Given the description of an element on the screen output the (x, y) to click on. 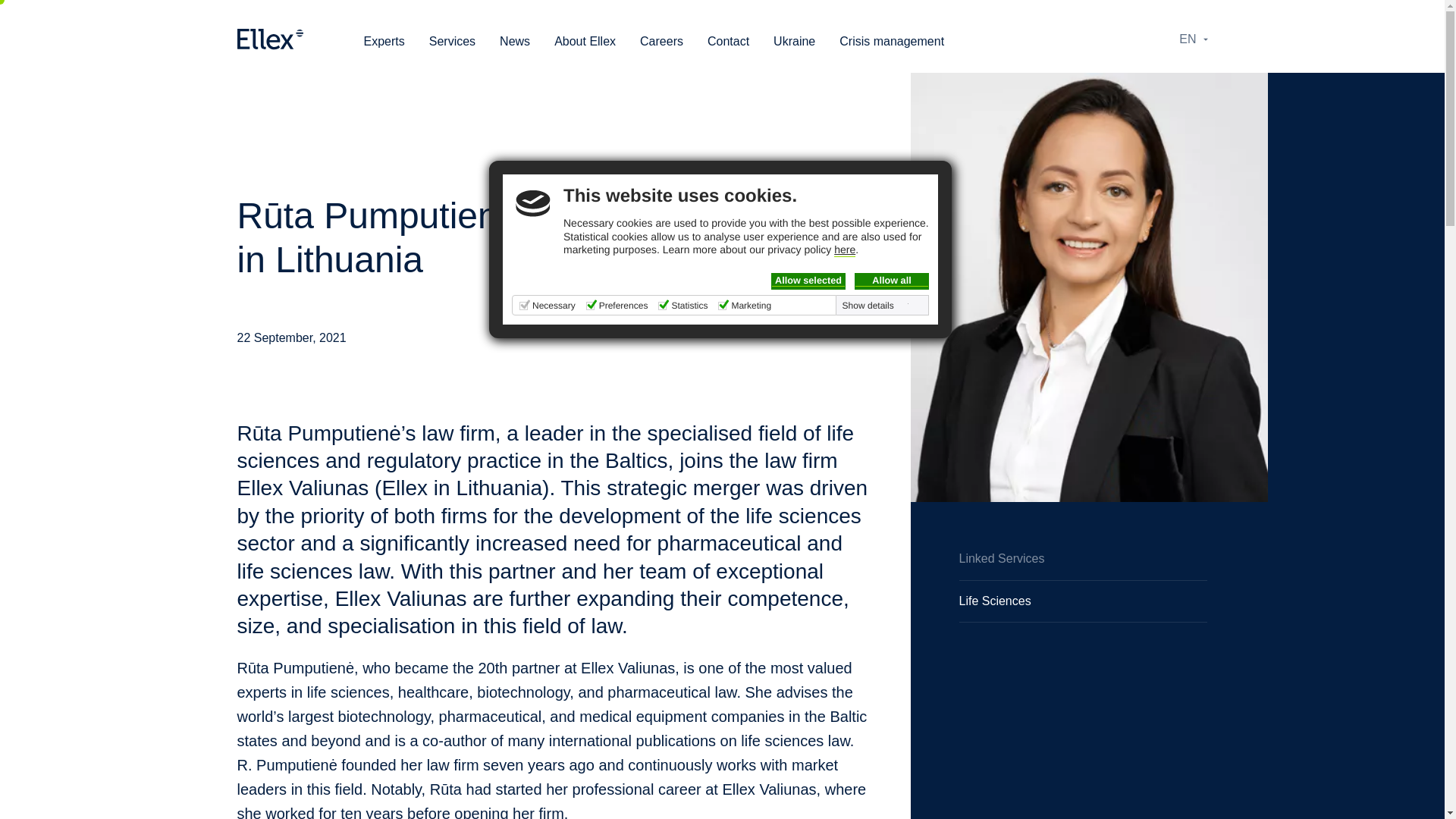
here (845, 250)
Allow all (891, 280)
Show details (876, 305)
Allow selected (808, 280)
